Given the description of an element on the screen output the (x, y) to click on. 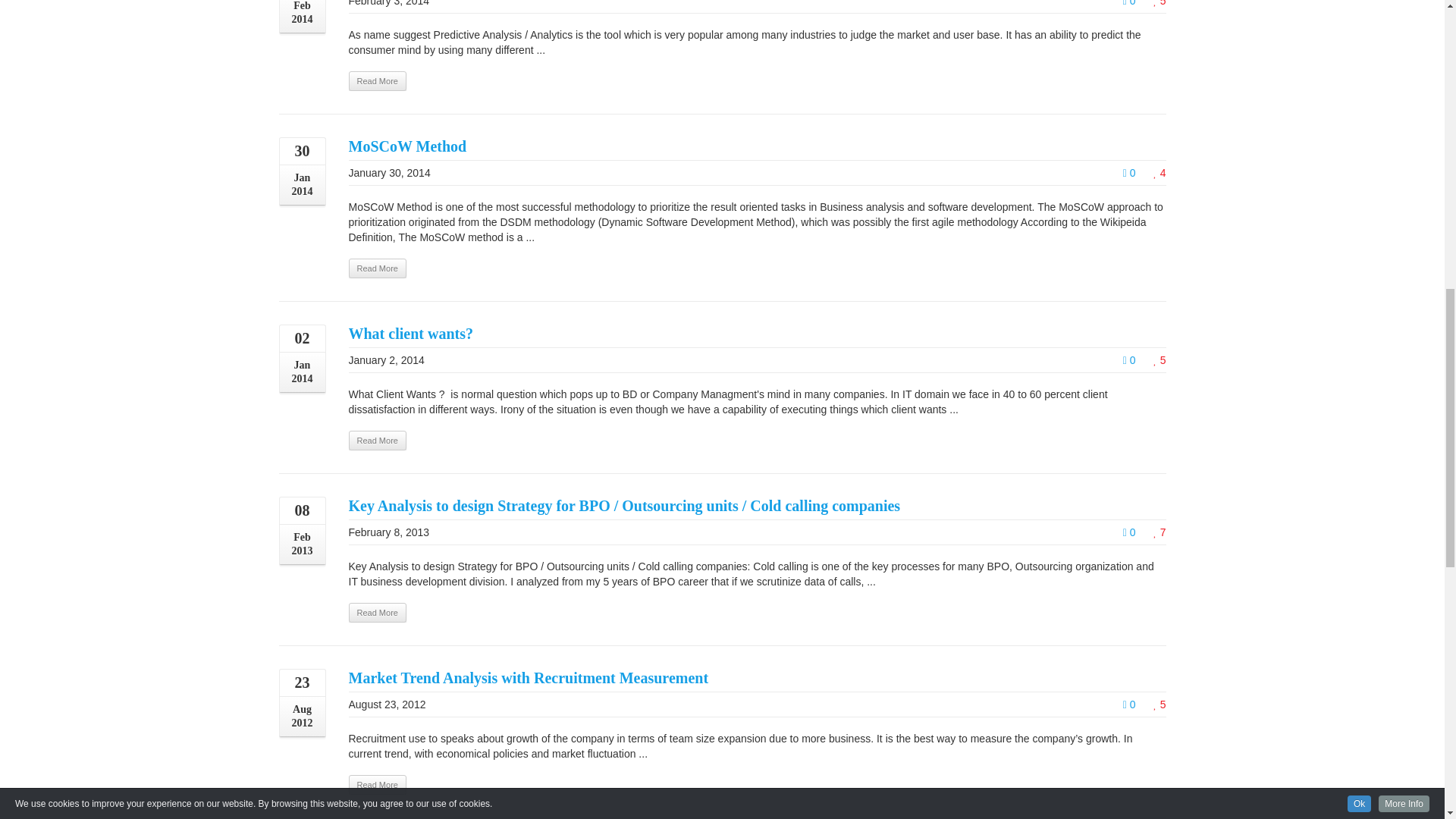
Like this (1159, 173)
Like this (1159, 3)
